Given the description of an element on the screen output the (x, y) to click on. 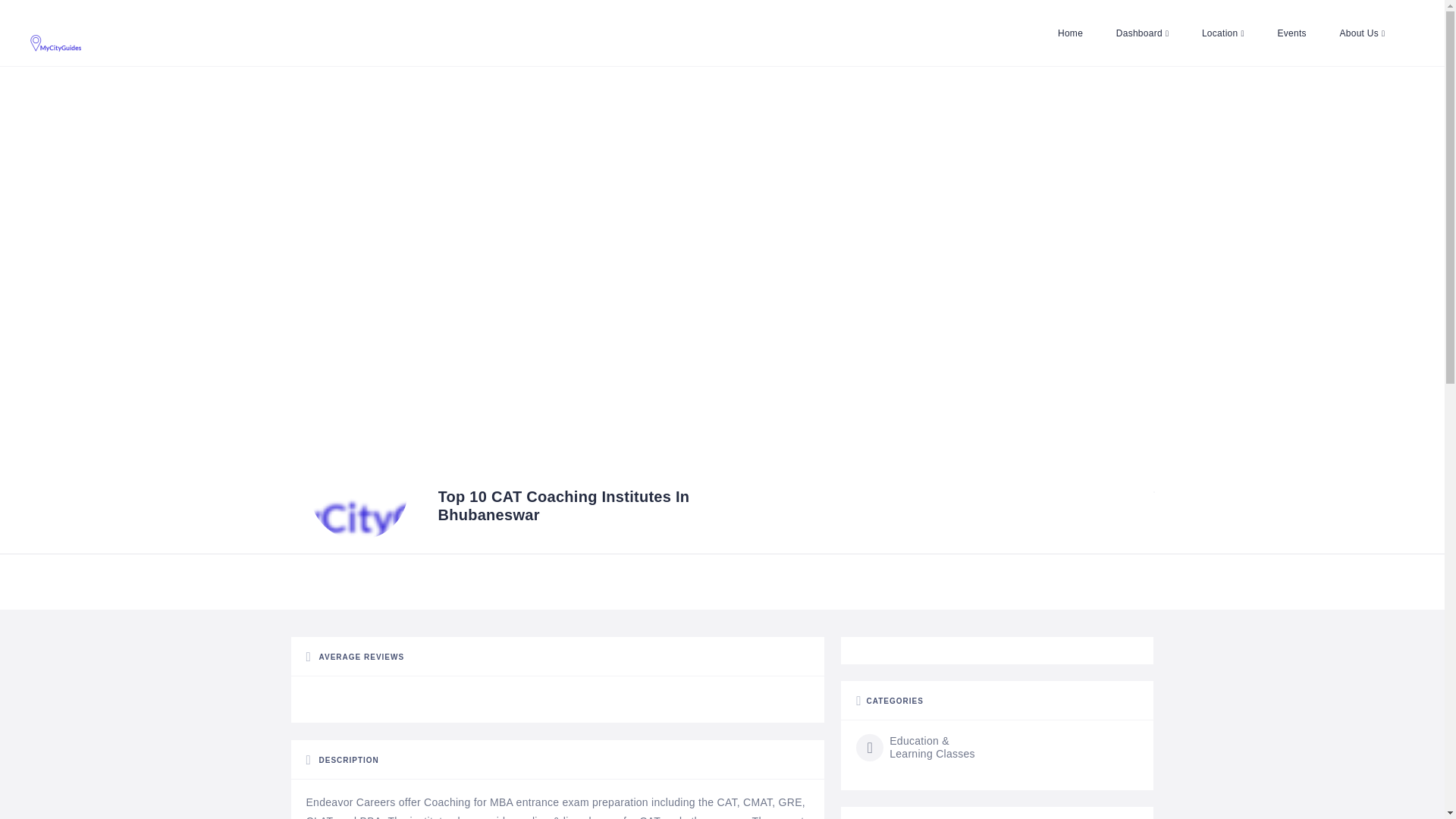
About Us (1361, 33)
Location (1222, 33)
Dashboard (1142, 33)
